Given the description of an element on the screen output the (x, y) to click on. 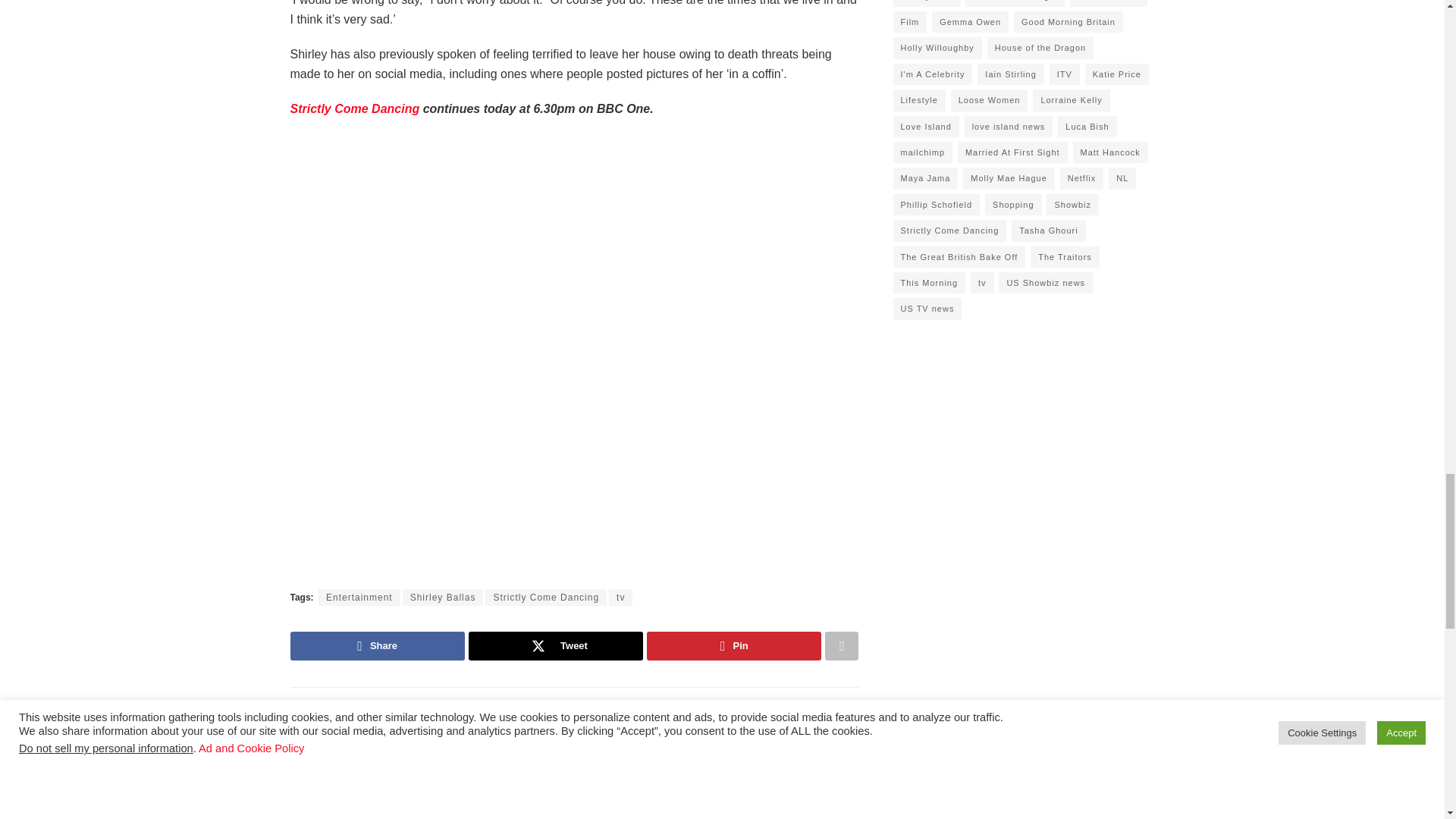
strictly come davcing (354, 108)
